Given the description of an element on the screen output the (x, y) to click on. 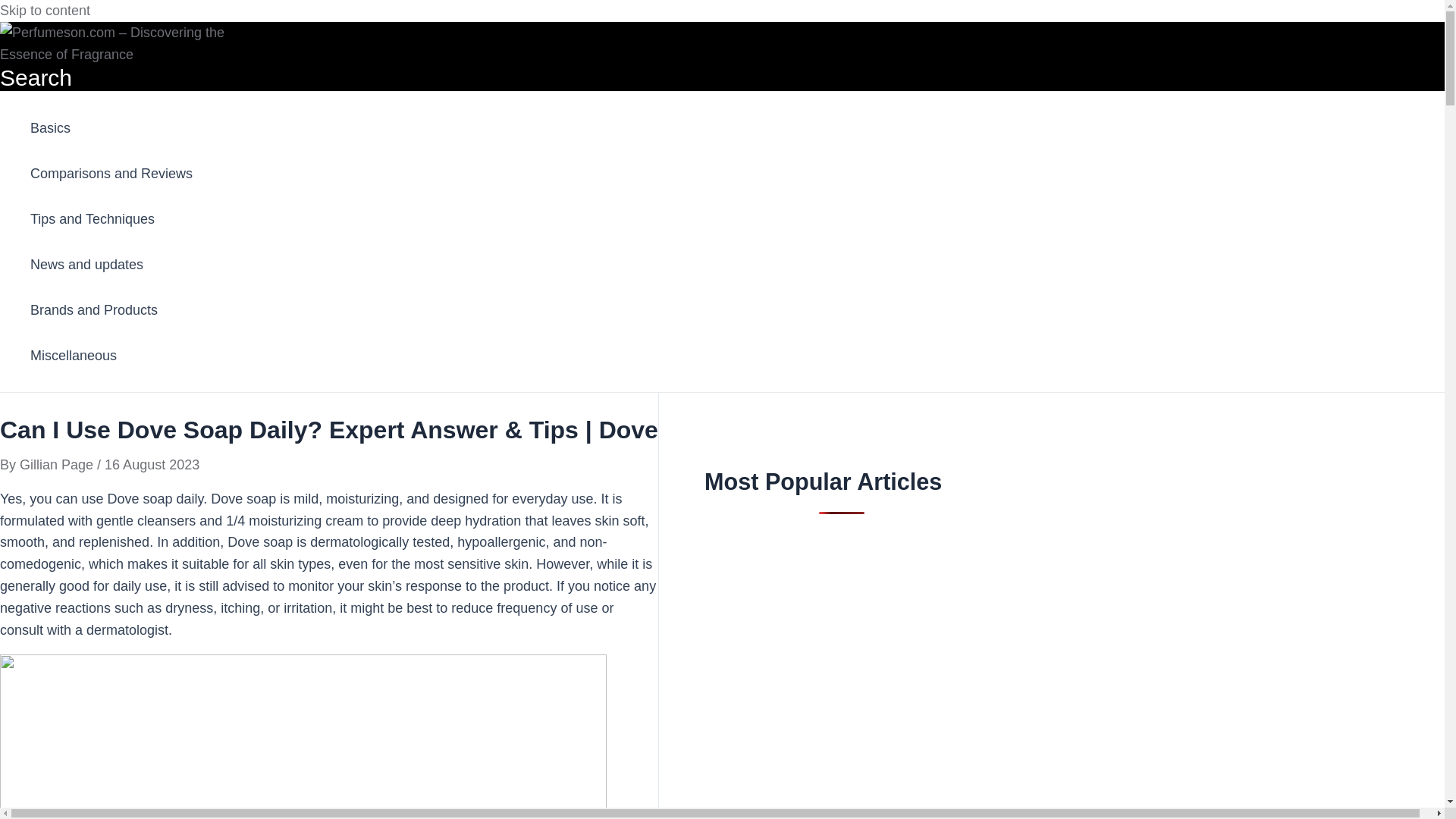
Skip to content (45, 10)
News and updates (111, 264)
Tips and Techniques (111, 218)
View all posts by Gillian Page (58, 464)
Basics (111, 127)
Brands and Products (111, 309)
Search (35, 77)
Miscellaneous (111, 355)
Comparisons and Reviews (111, 173)
Gillian Page (58, 464)
Skip to content (45, 10)
